Given the description of an element on the screen output the (x, y) to click on. 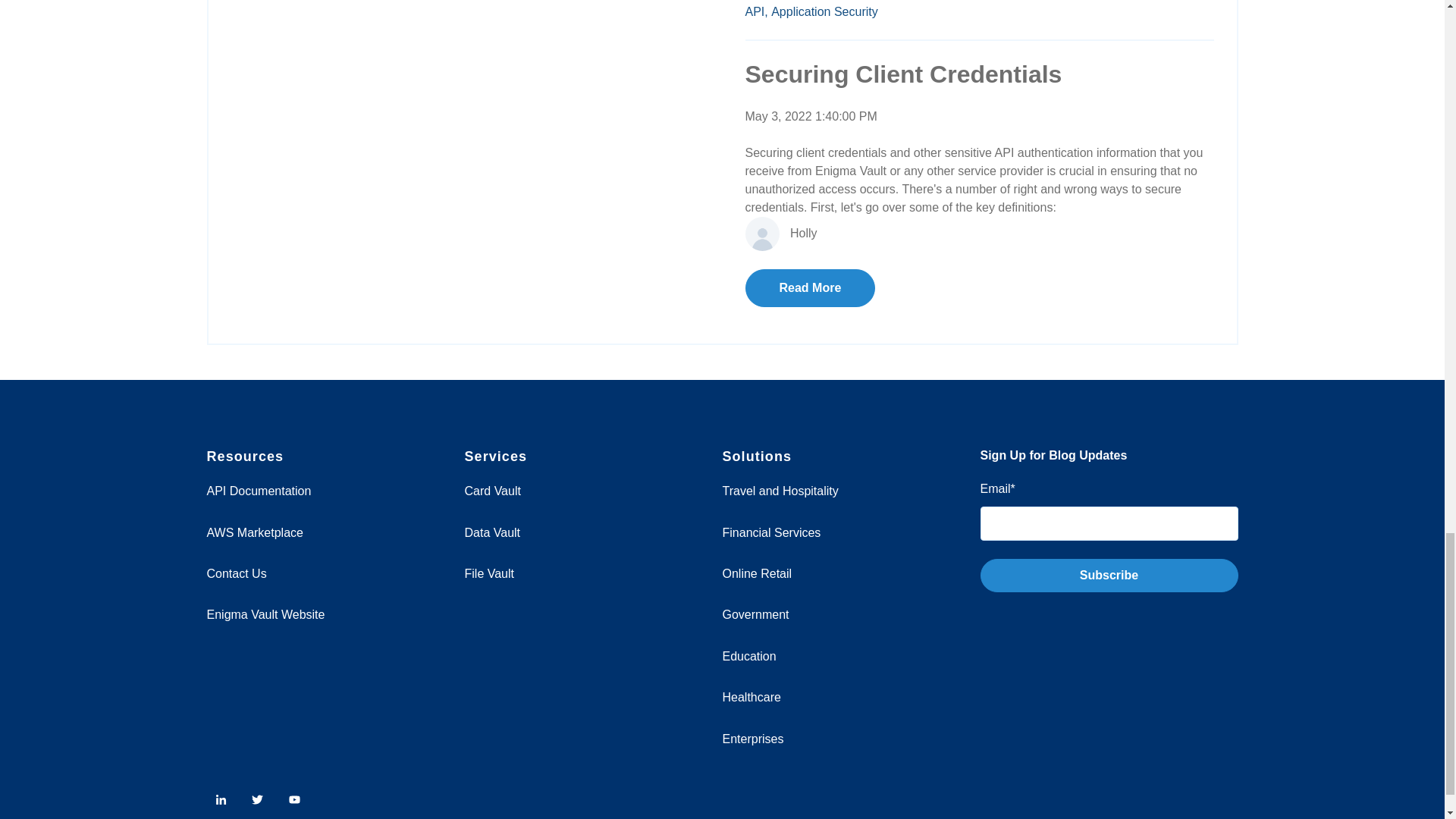
Data Vault (491, 532)
Securing Client Credentials (902, 73)
Follow us on Facebook (293, 799)
API Documentation (258, 490)
API, (755, 11)
Education (749, 656)
Enigma Vault Website (265, 614)
Enterprises (752, 738)
Government (755, 614)
Application Security (824, 11)
